Given the description of an element on the screen output the (x, y) to click on. 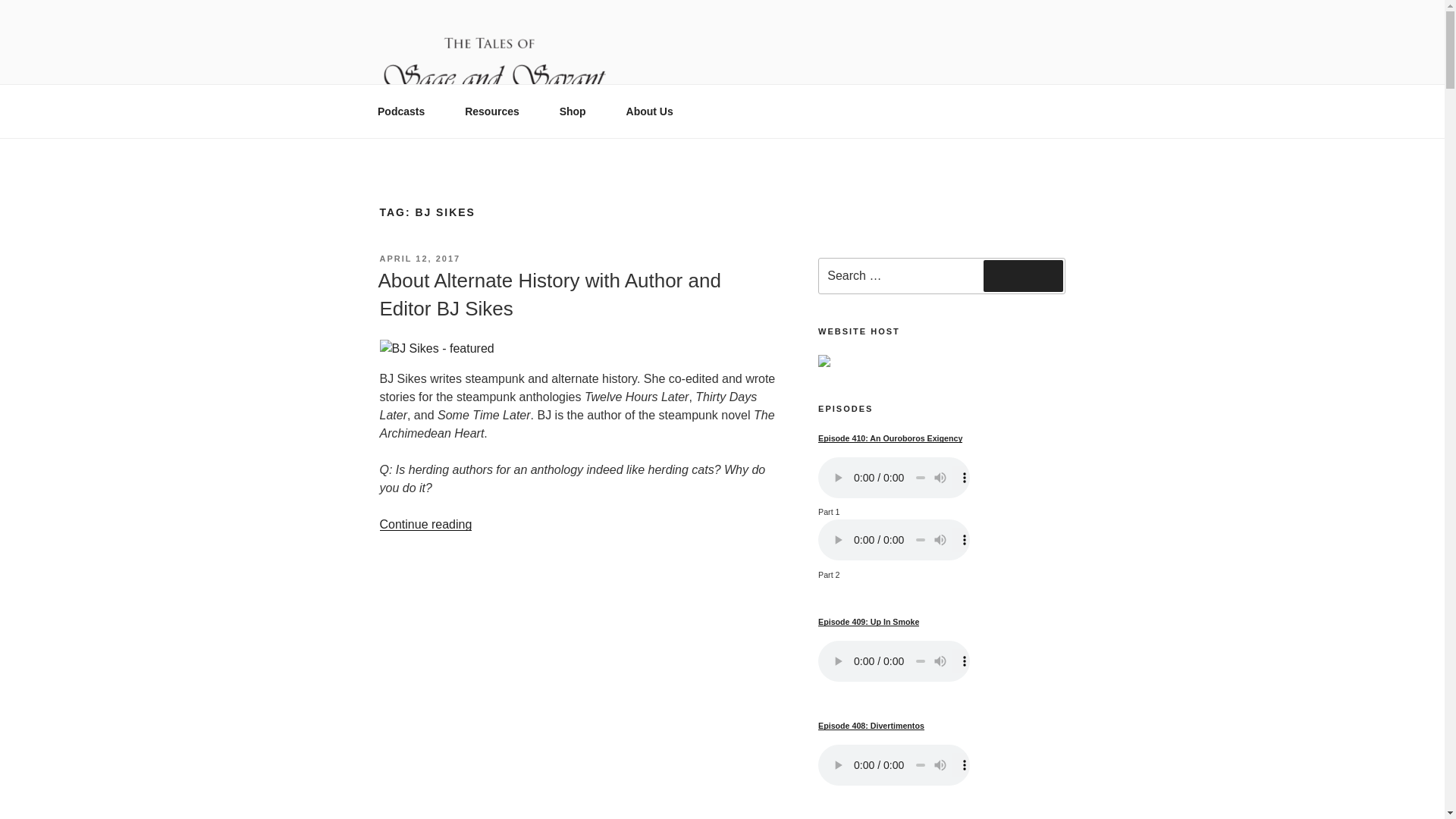
APRIL 12, 2017 (419, 257)
Episode 408: Divertimentos (871, 724)
Episode 409: Up In Smoke (868, 621)
Episode 410: An Ouroboros Exigency (890, 438)
Episode 410: An Ouroboros Exigency (890, 438)
Episode 409: Up In Smoke (868, 621)
Shop (578, 110)
Search (1023, 275)
About Us (654, 110)
Resources (497, 110)
